Given the description of an element on the screen output the (x, y) to click on. 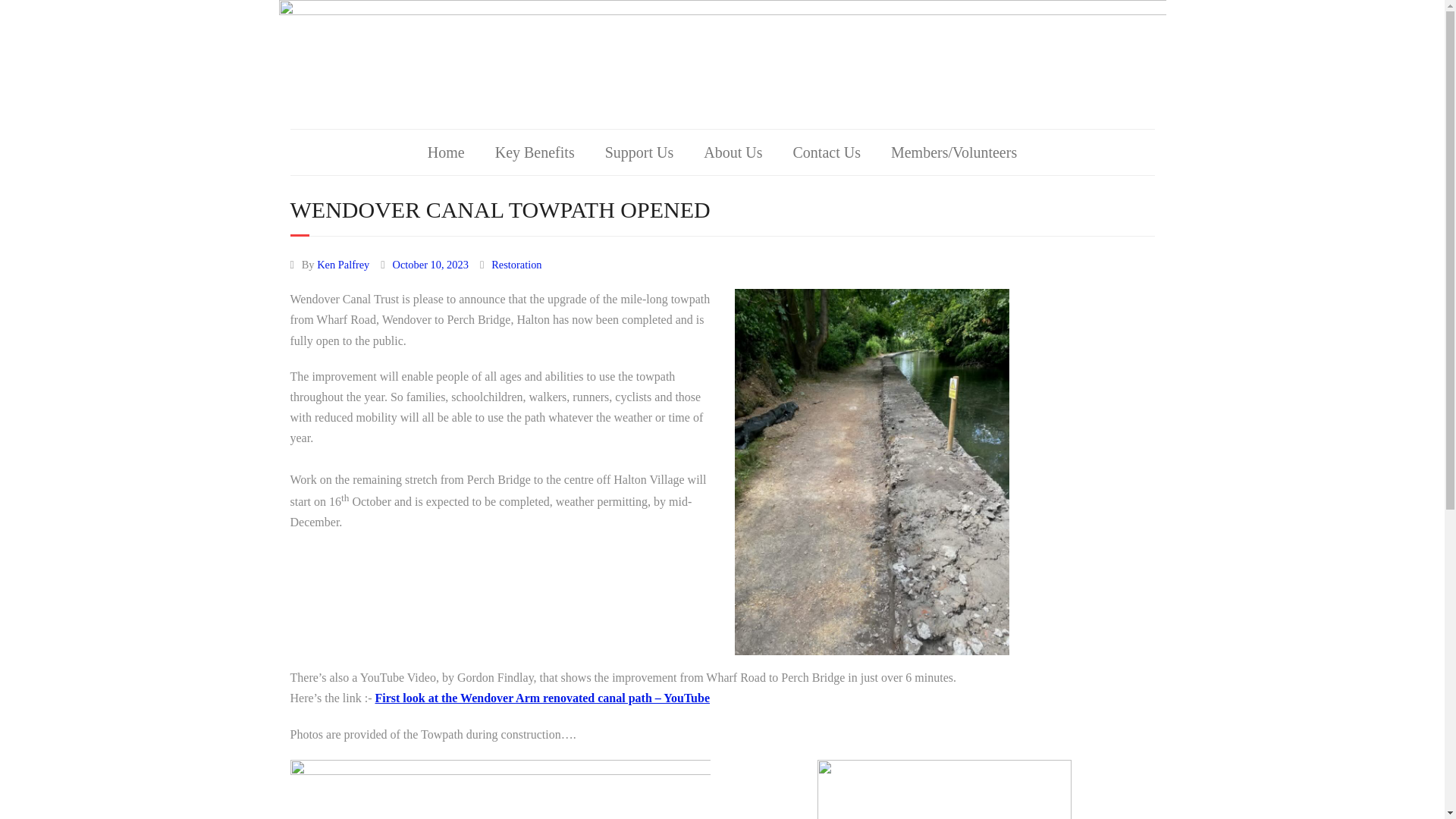
About Us (732, 152)
Contact Us (826, 152)
Key Benefits (534, 152)
Wendover Canal Towpath Opened (430, 264)
View all posts by Ken Palfrey (343, 264)
Home (446, 152)
Support Us (638, 152)
